Given the description of an element on the screen output the (x, y) to click on. 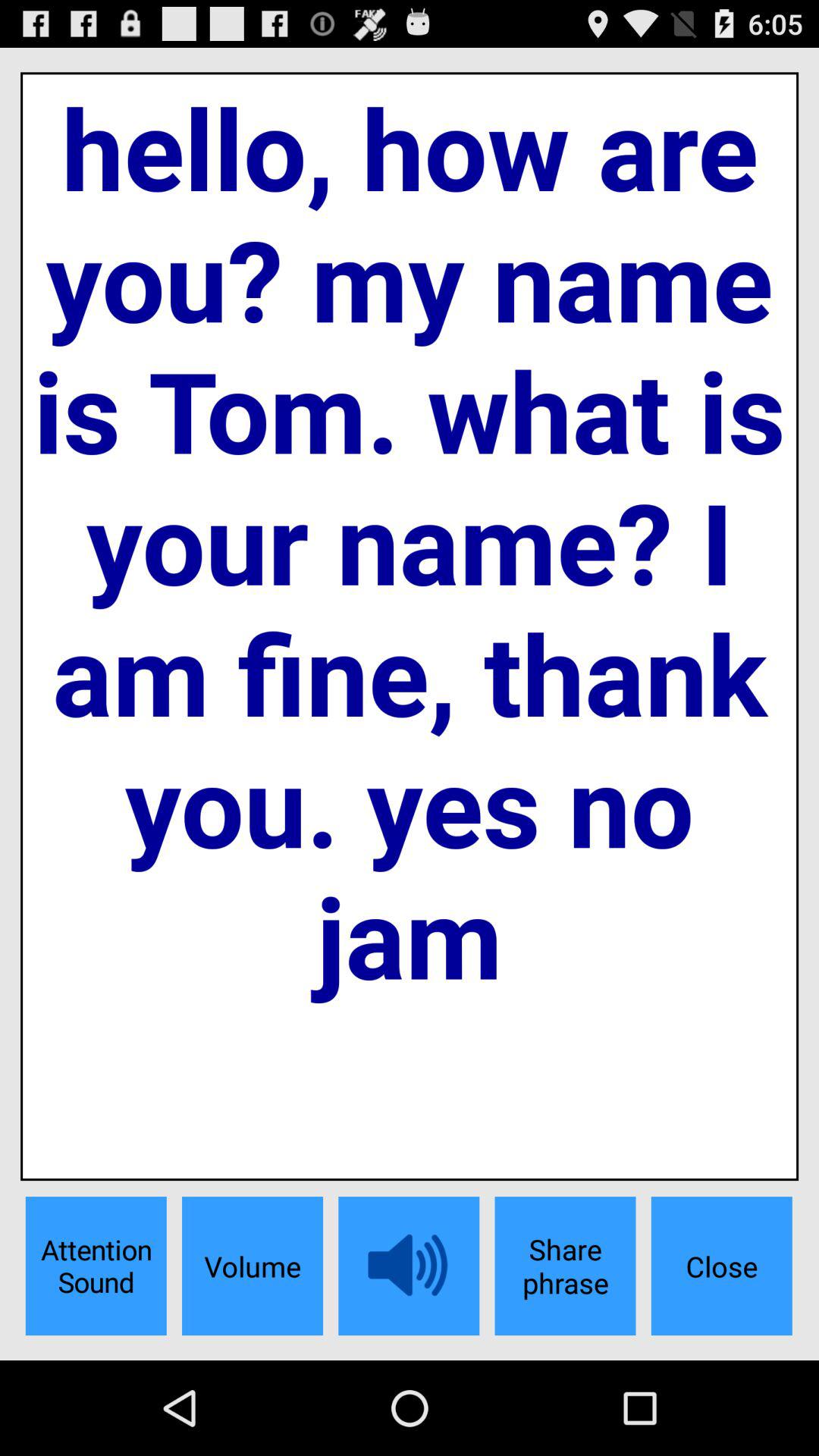
press the share
phrase button (564, 1265)
